Given the description of an element on the screen output the (x, y) to click on. 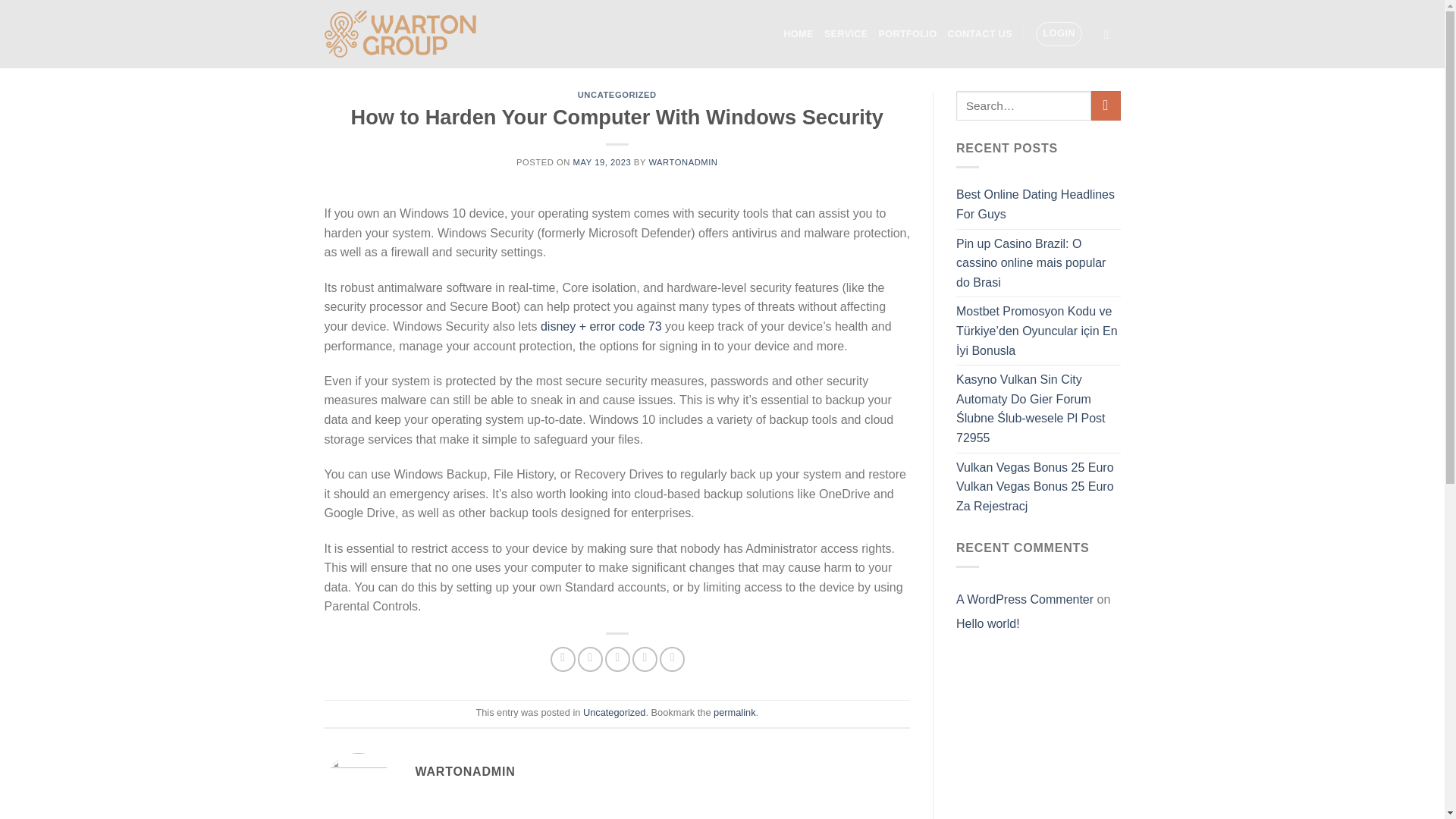
Hello world! (988, 623)
WARTONADMIN (682, 162)
Share on LinkedIn (671, 659)
Best Online Dating Headlines For Guys (1038, 204)
Warton Digital marketing - Just another WordPress site (400, 33)
A WordPress Commenter (1024, 599)
MAY 19, 2023 (602, 162)
permalink (734, 712)
